Given the description of an element on the screen output the (x, y) to click on. 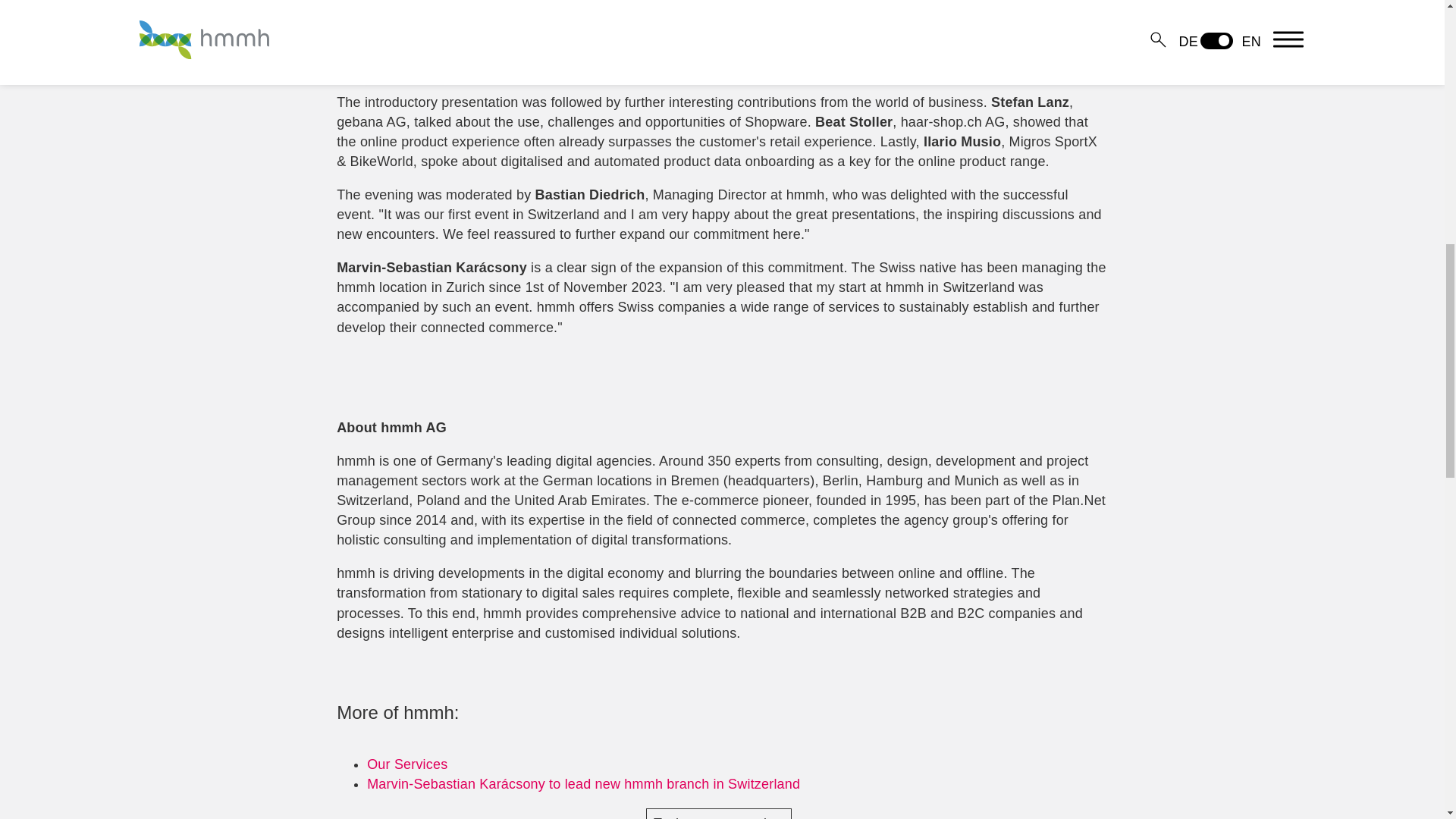
Our Services (406, 764)
To the news overview (719, 813)
